Given the description of an element on the screen output the (x, y) to click on. 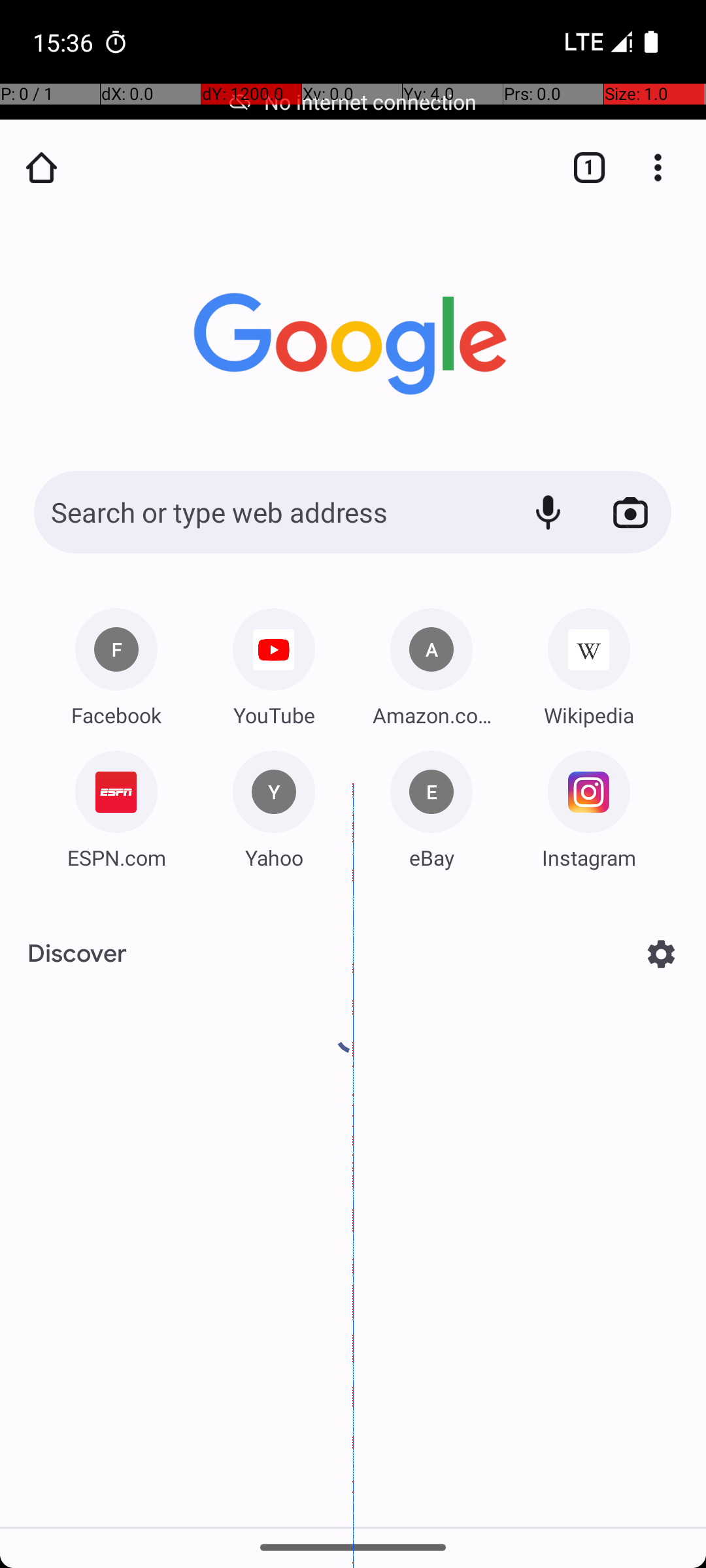
Search or type web address Element type: android.widget.EditText (267, 512)
Search with your camera using Google Lens Element type: android.widget.ImageView (629, 512)
Navigate: Facebook: m.facebook.com Element type: android.widget.FrameLayout (115, 662)
Navigate: YouTube: m.youtube.com Element type: android.widget.FrameLayout (273, 662)
Navigate: Amazon.com: www.amazon.com Element type: android.widget.FrameLayout (431, 662)
Navigate: Wikipedia: en.m.wikipedia.org Element type: android.widget.FrameLayout (588, 662)
Navigate: ESPN.com: www.espn.com Element type: android.widget.FrameLayout (115, 804)
Navigate: Yahoo: www.yahoo.com Element type: android.widget.FrameLayout (273, 807)
Navigate: eBay: m.ebay.com Element type: android.widget.FrameLayout (431, 804)
Navigate: Instagram: www.instagram.com Element type: android.widget.FrameLayout (588, 804)
Options for Discover Element type: android.widget.ImageButton (660, 953)
Amazon.com Element type: android.widget.TextView (430, 715)
ESPN.com Element type: android.widget.TextView (115, 857)
Yahoo Element type: android.widget.TextView (273, 857)
eBay Element type: android.widget.TextView (430, 857)
Instagram Element type: android.widget.TextView (588, 857)
15:36 Element type: android.widget.TextView (64, 41)
